Given the description of an element on the screen output the (x, y) to click on. 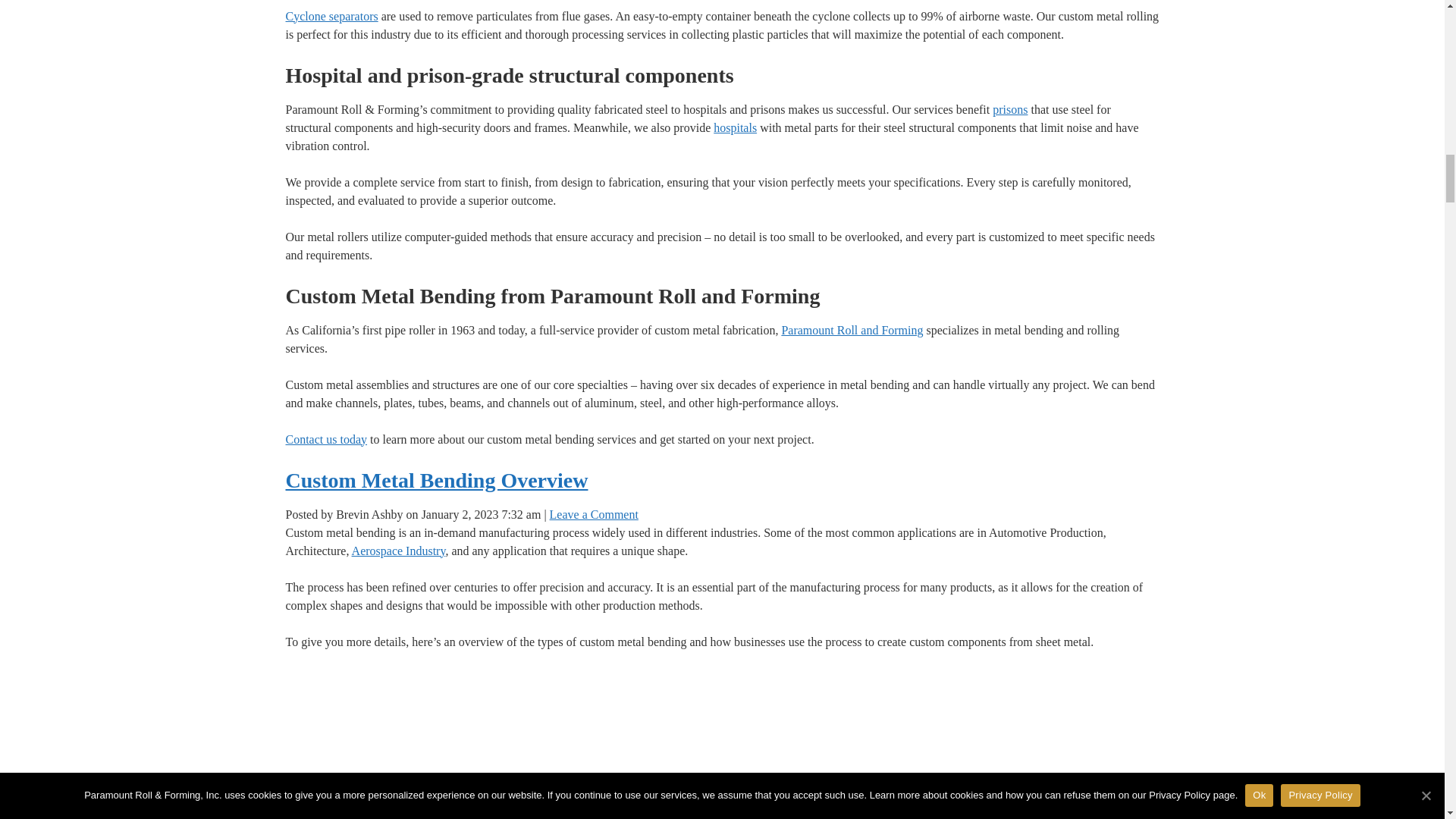
Permalink to Custom Metal Bending Overview (436, 480)
